Given the description of an element on the screen output the (x, y) to click on. 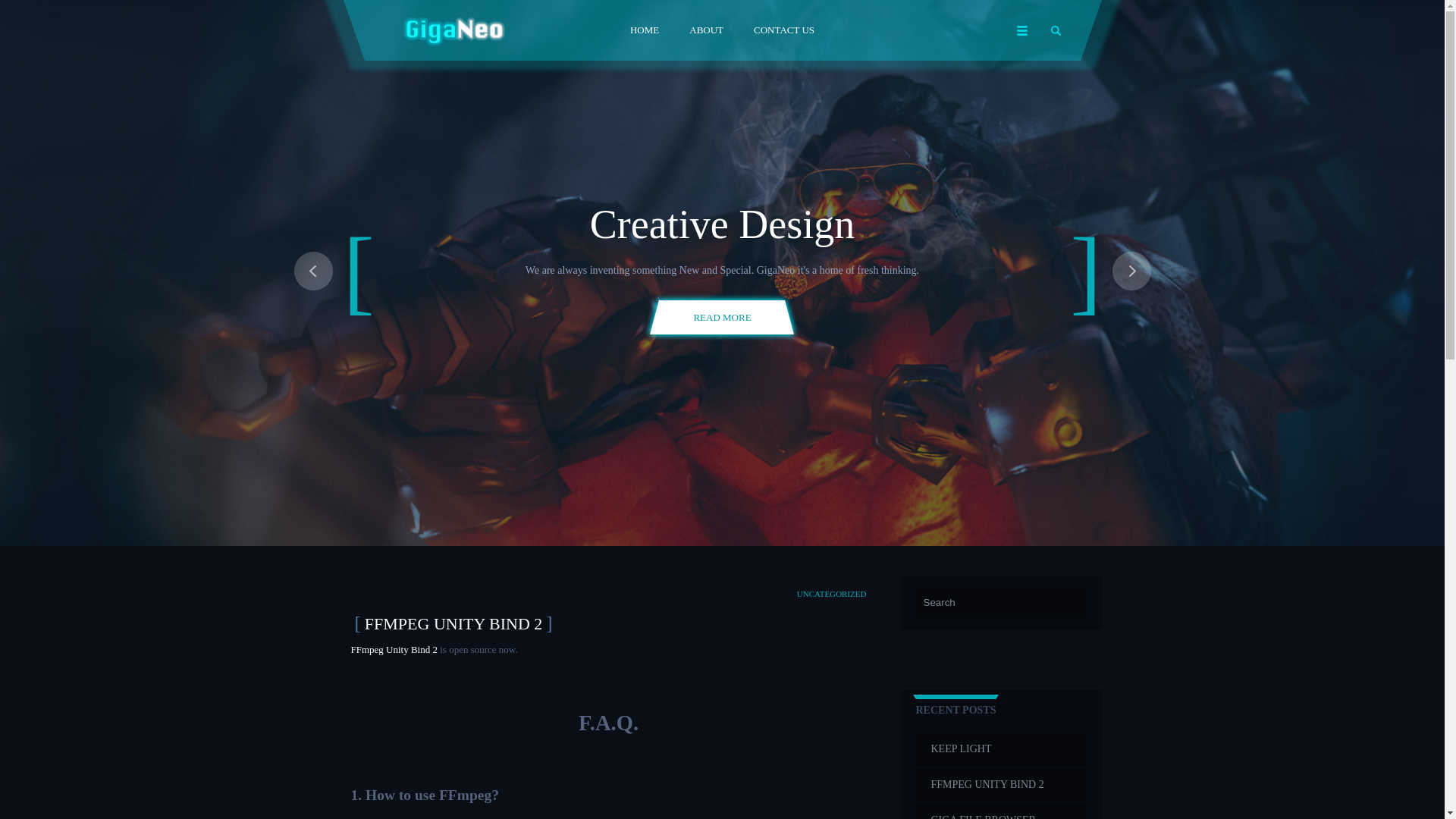
FFMPEG UNITY BIND 2 (1000, 784)
UNCATEGORIZED (831, 593)
GigaNeo (452, 30)
FFmpeg Unity Bind 2 (394, 649)
READ MORE (721, 317)
HOME (644, 31)
GIGA FILE BROWSER (1000, 811)
ABOUT (706, 31)
KEEP LIGHT (1000, 748)
CONTACT US (783, 31)
